Given the description of an element on the screen output the (x, y) to click on. 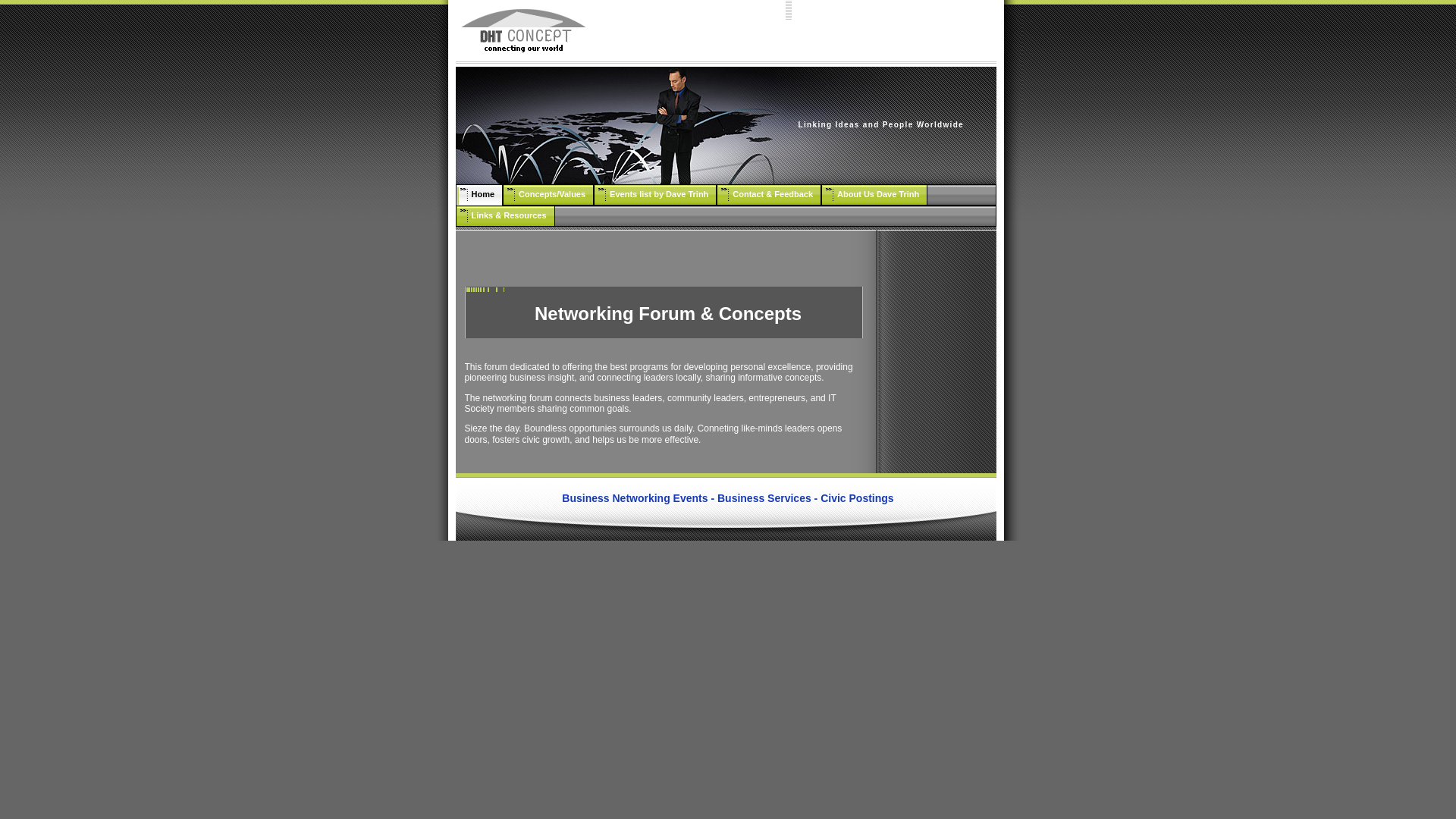
About Us Dave Trinh (874, 195)
Events list by Dave Trinh (655, 195)
Home (479, 195)
